Given the description of an element on the screen output the (x, y) to click on. 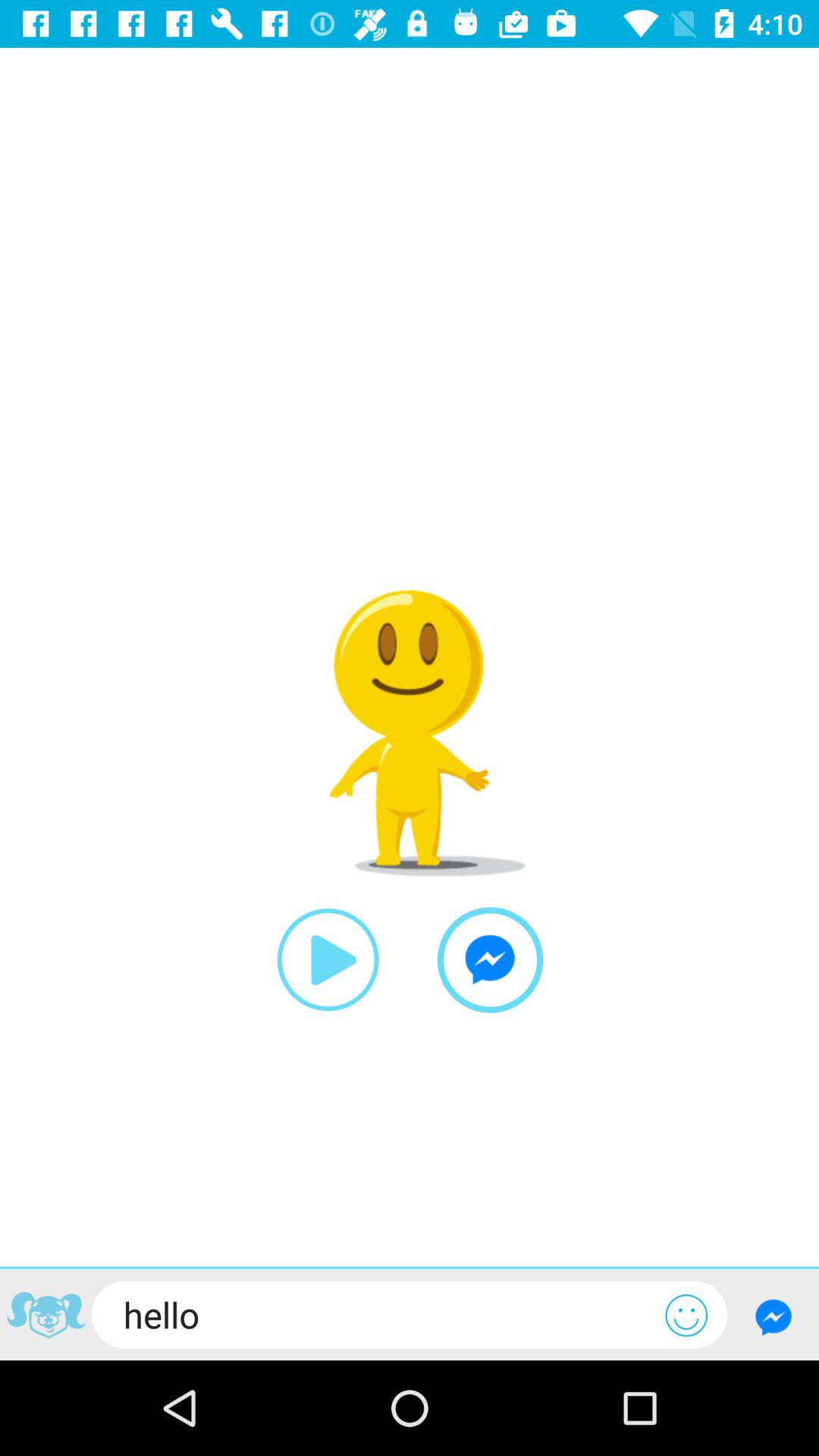
turn on icon to the left of hello icon (45, 1317)
